Given the description of an element on the screen output the (x, y) to click on. 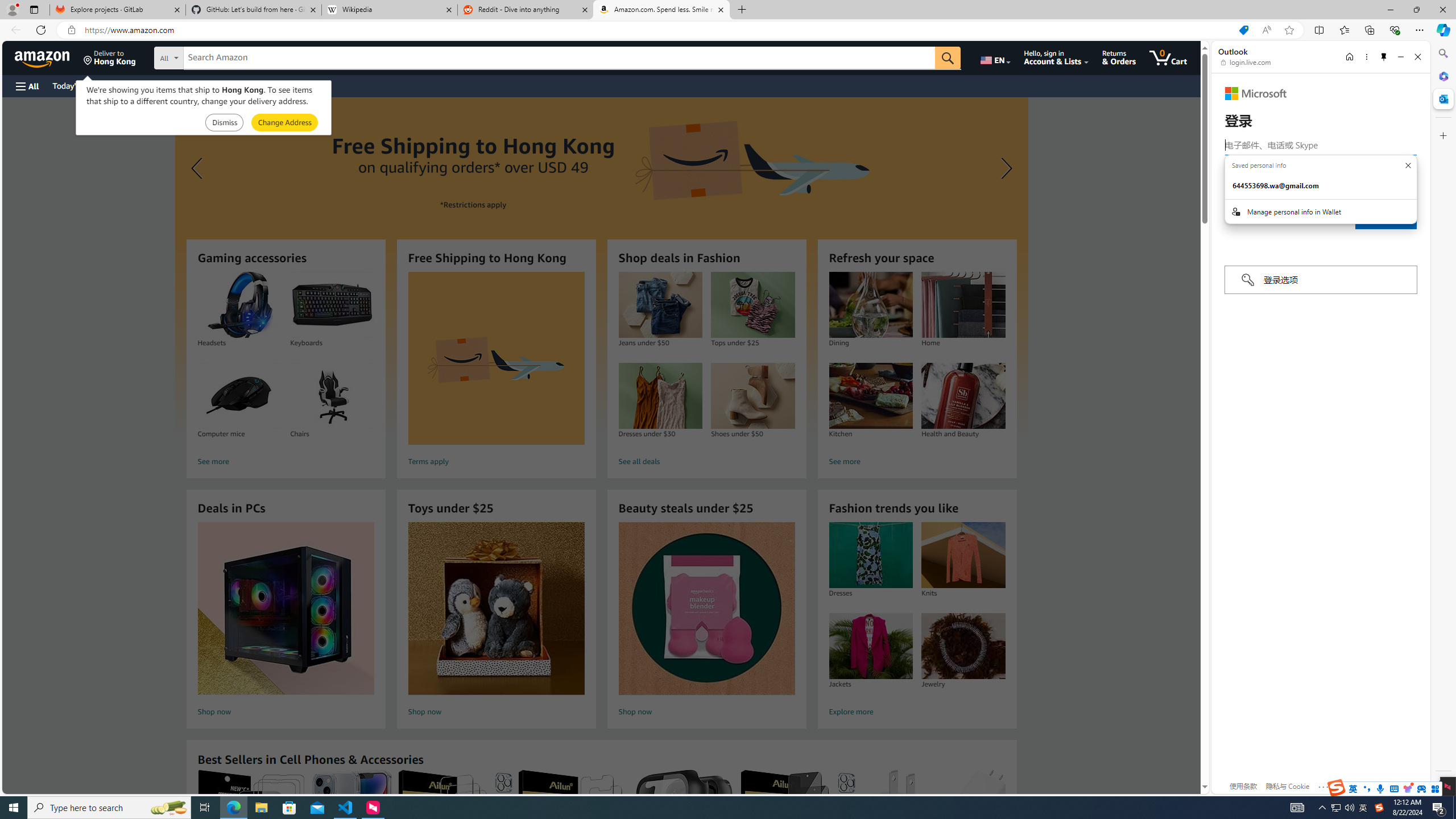
Knits (963, 555)
Health and Beauty (963, 395)
Beauty steals under $25 (705, 608)
Chairs (331, 395)
Wikipedia (390, 9)
Free Shipping to Hong Kong Terms apply (495, 370)
